Given the description of an element on the screen output the (x, y) to click on. 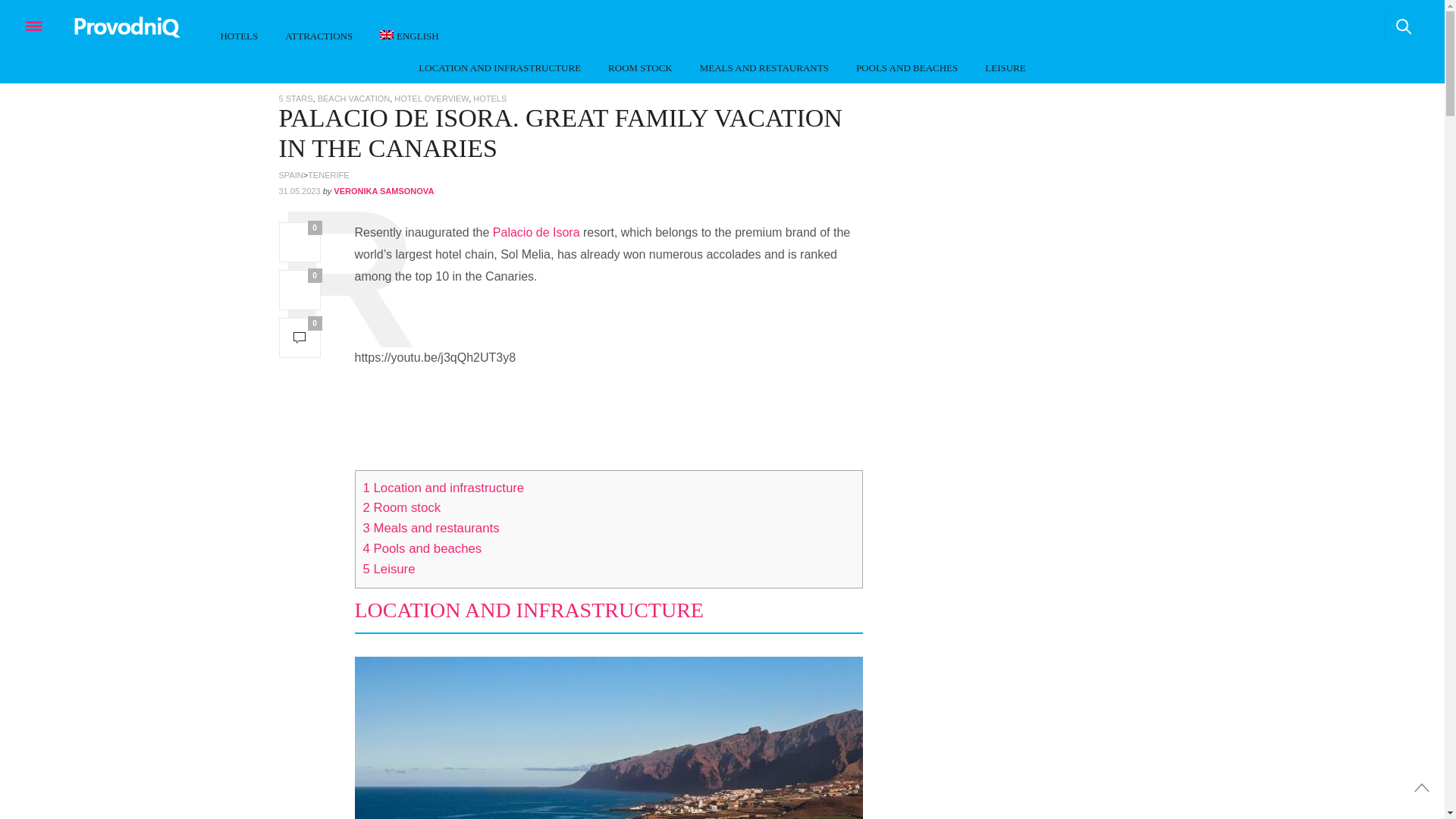
MEALS AND RESTAURANTS (764, 68)
5 STARS (296, 98)
ROOM STOCK (640, 68)
Palacio de Isora (536, 232)
3 Meals and restaurants (430, 527)
0 (299, 337)
ENGLISH (409, 36)
0 (299, 241)
VERONIKA SAMSONOVA (383, 190)
4 Pools and beaches (421, 548)
